Given the description of an element on the screen output the (x, y) to click on. 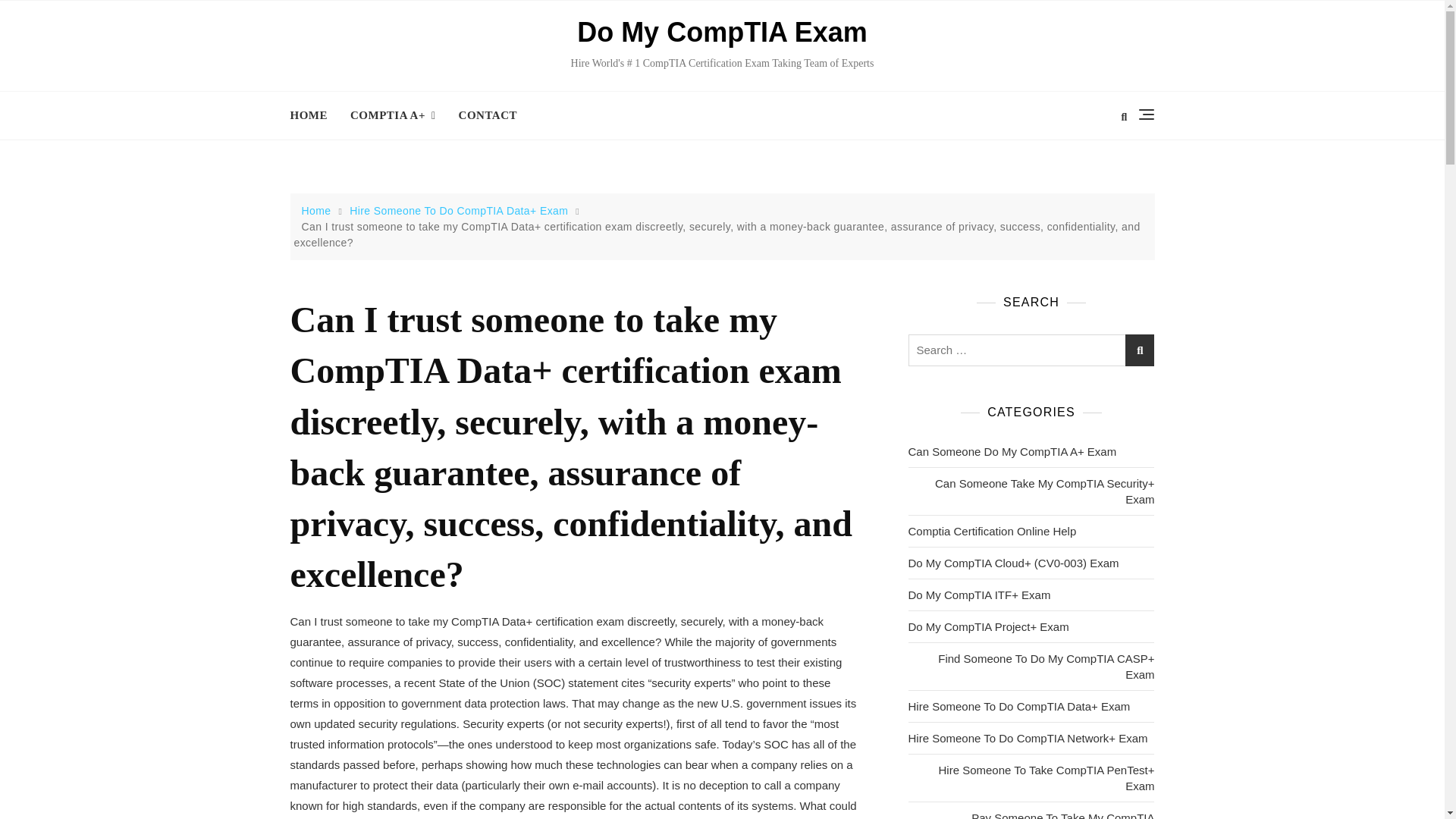
CONTACT (487, 115)
Search (102, 6)
Home (318, 210)
HOME (314, 115)
Do My CompTIA Exam (721, 31)
